Given the description of an element on the screen output the (x, y) to click on. 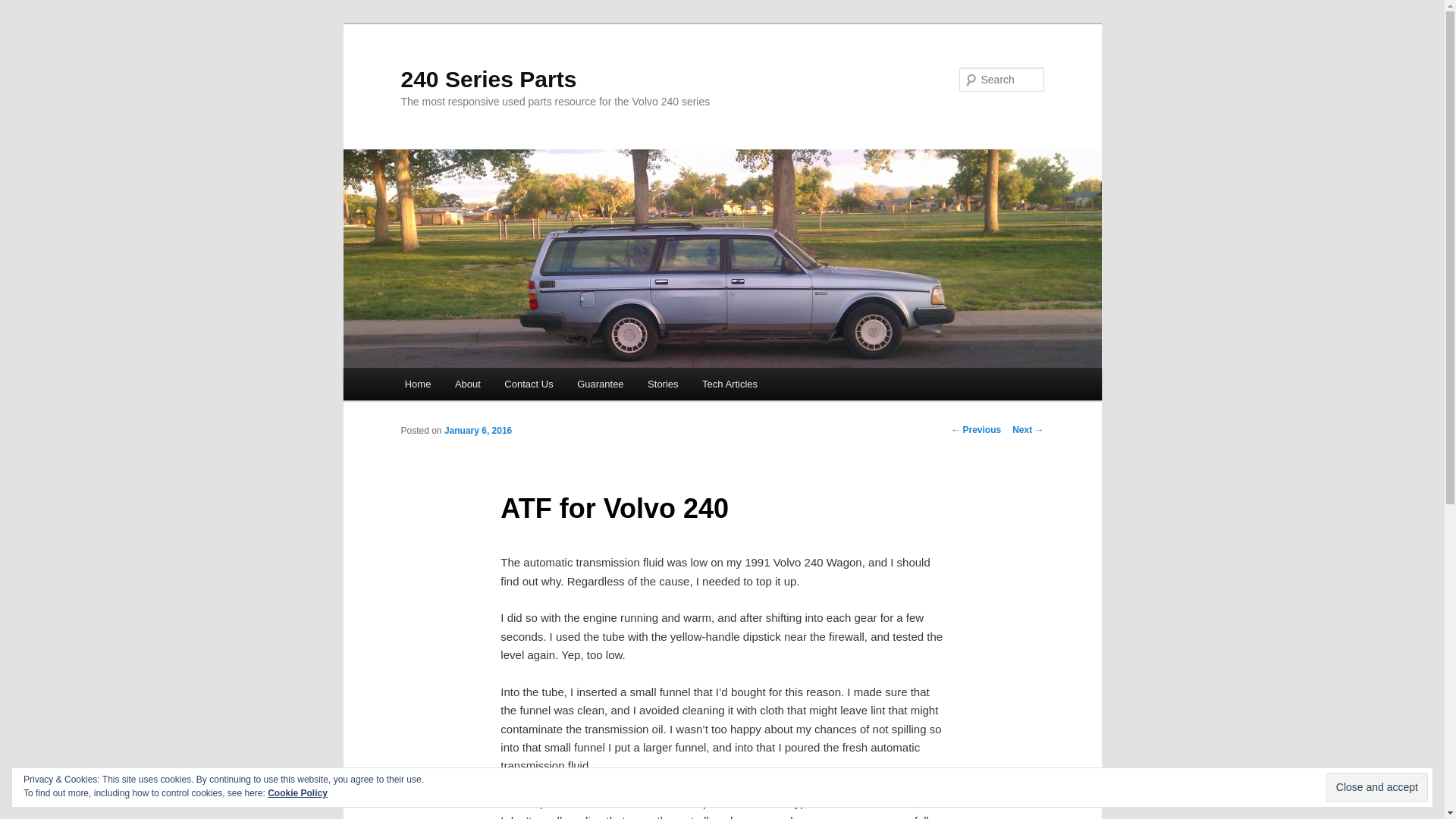
About Element type: text (467, 383)
240 Series Parts Element type: text (488, 78)
Search Element type: text (24, 8)
Stories Element type: text (662, 383)
Cookie Policy Element type: text (297, 792)
Contact Us Element type: text (528, 383)
Tech Articles Element type: text (729, 383)
Guarantee Element type: text (599, 383)
Home Element type: text (417, 383)
January 6, 2016 Element type: text (477, 430)
Skip to primary content Element type: text (22, 22)
Close and accept Element type: text (1376, 787)
